Given the description of an element on the screen output the (x, y) to click on. 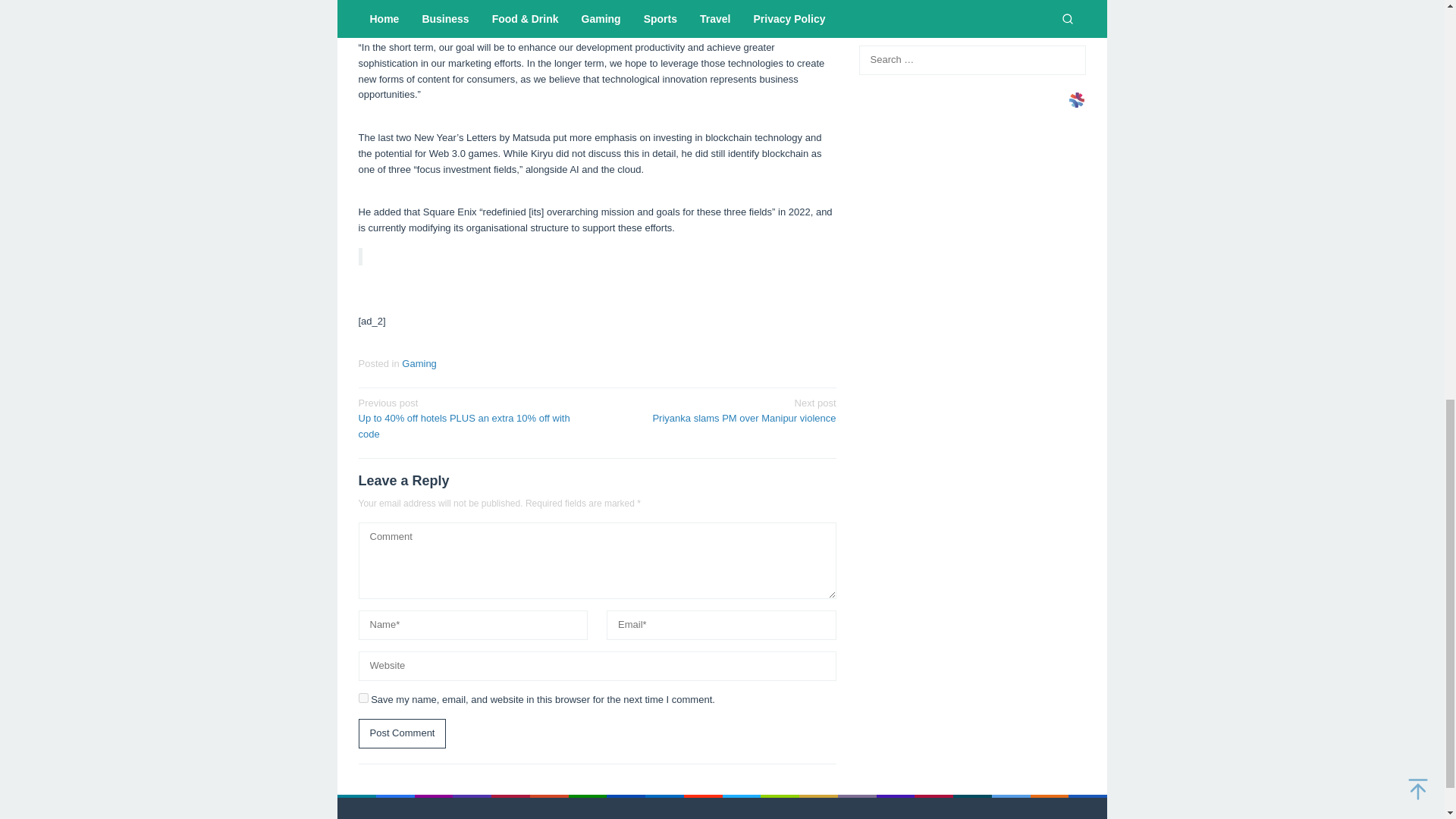
Gaming (418, 363)
Post Comment (401, 733)
Post Comment (401, 733)
yes (363, 697)
